Given the description of an element on the screen output the (x, y) to click on. 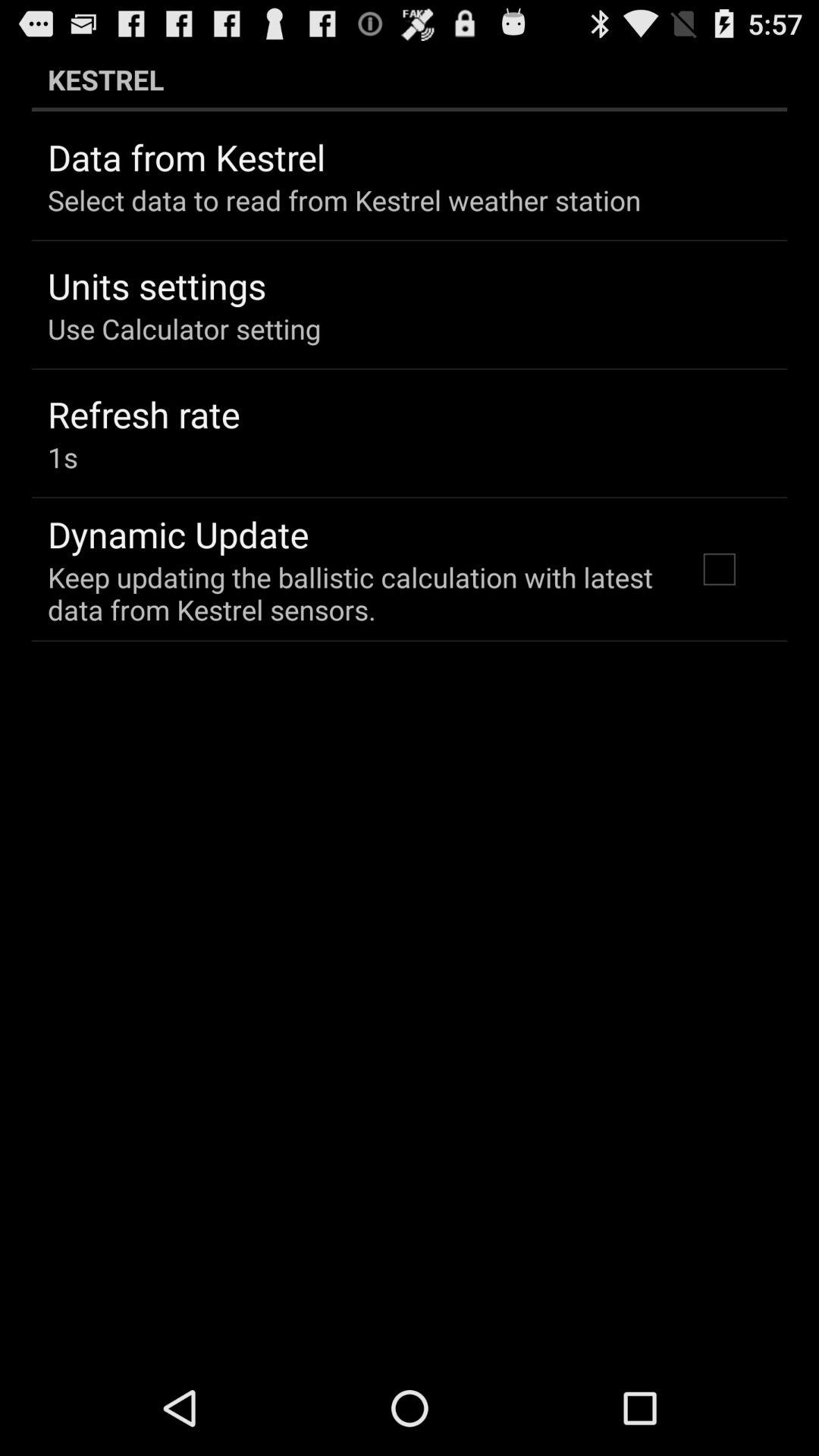
launch the keep updating the app (351, 593)
